Given the description of an element on the screen output the (x, y) to click on. 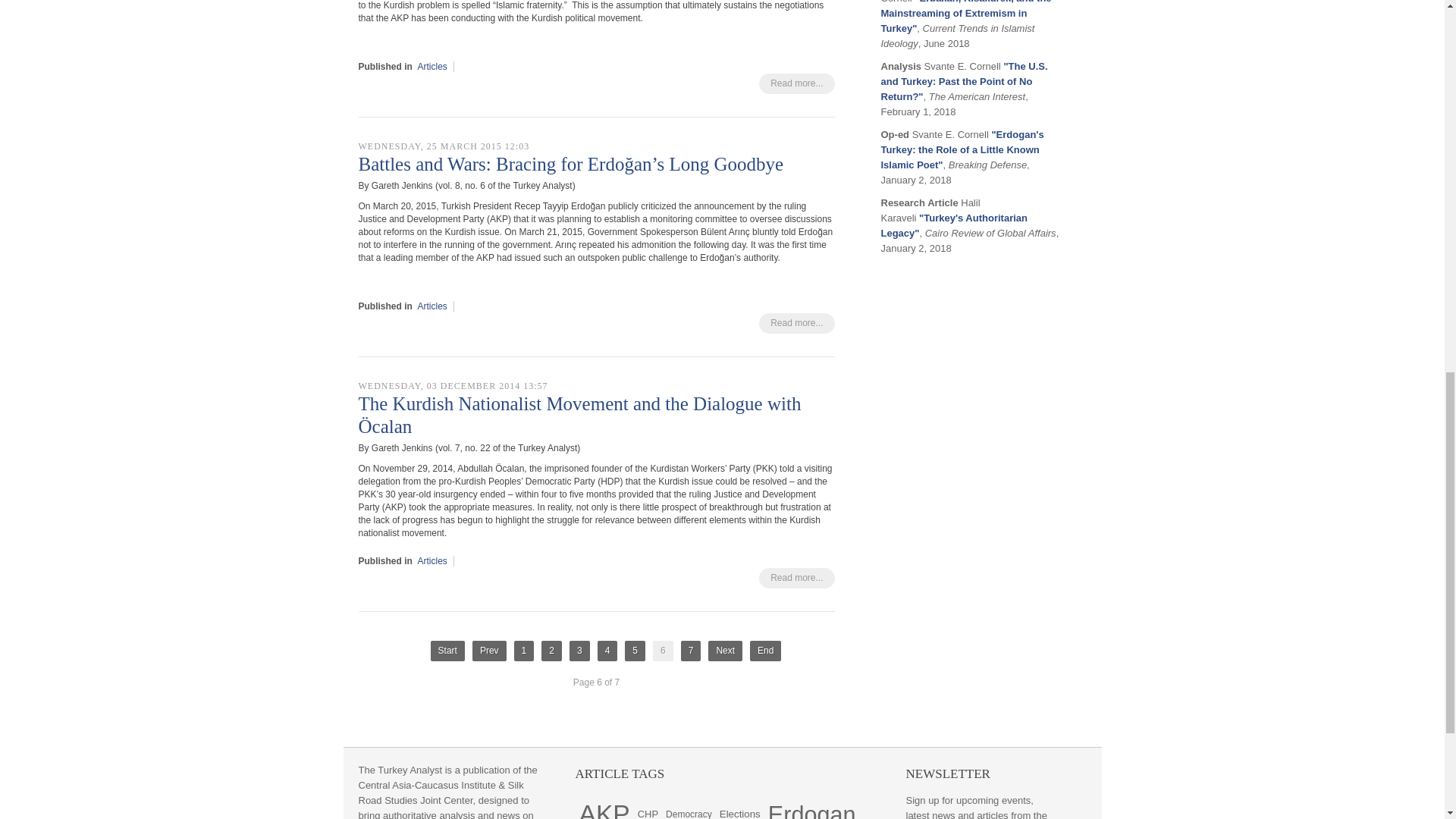
41 items tagged with Elections (740, 809)
Articles (431, 306)
Prev (488, 650)
End (764, 650)
190 items tagged with AKP (604, 809)
7 (691, 650)
168 items tagged with Erdogan (812, 809)
4 (606, 650)
7 (691, 650)
1 (523, 650)
4 (606, 650)
Articles (431, 561)
Next (724, 650)
1 (523, 650)
Start (447, 650)
